Given the description of an element on the screen output the (x, y) to click on. 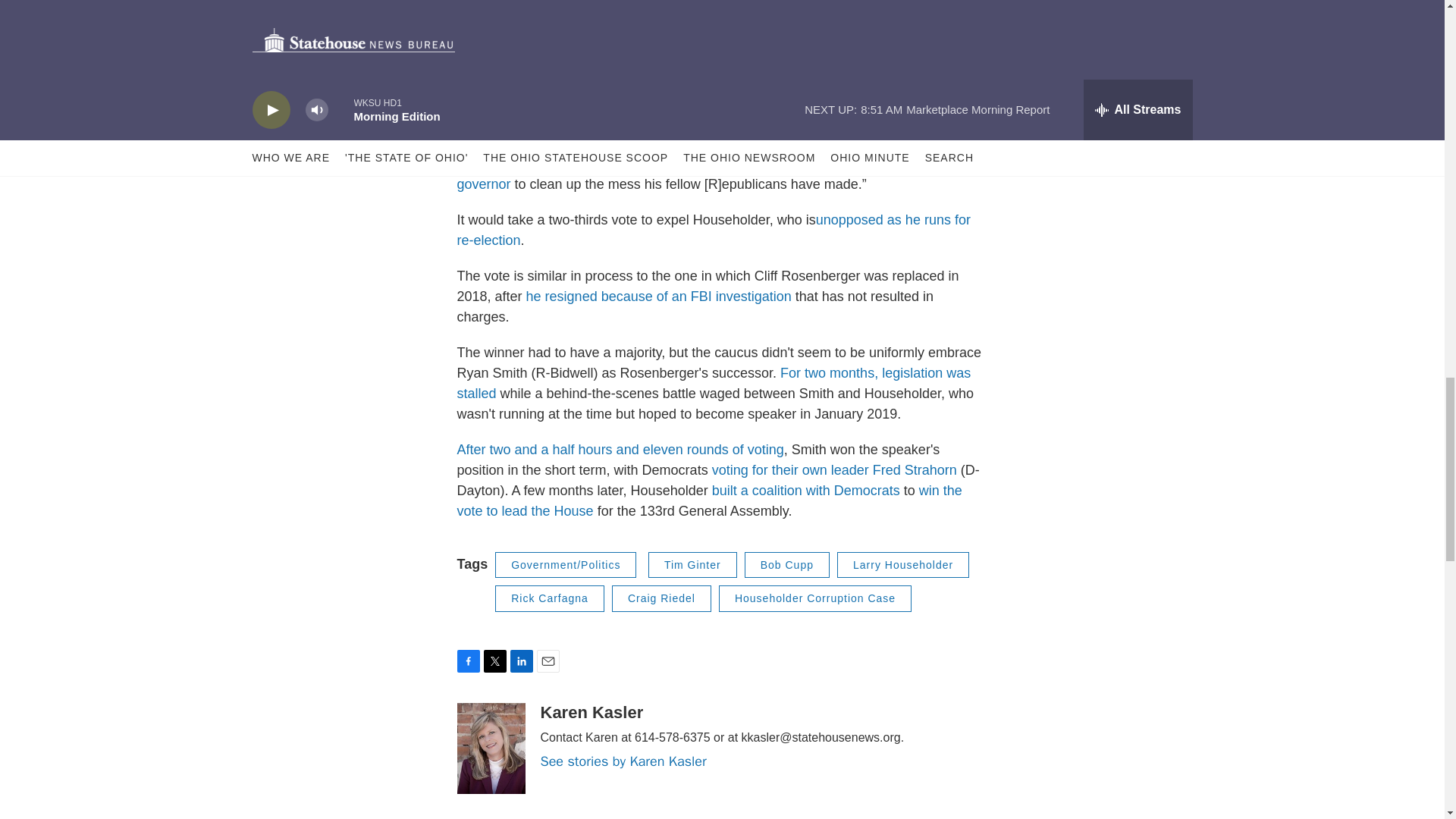
Their leadership wrote in a statement (641, 102)
was elected last year (601, 81)
